Given the description of an element on the screen output the (x, y) to click on. 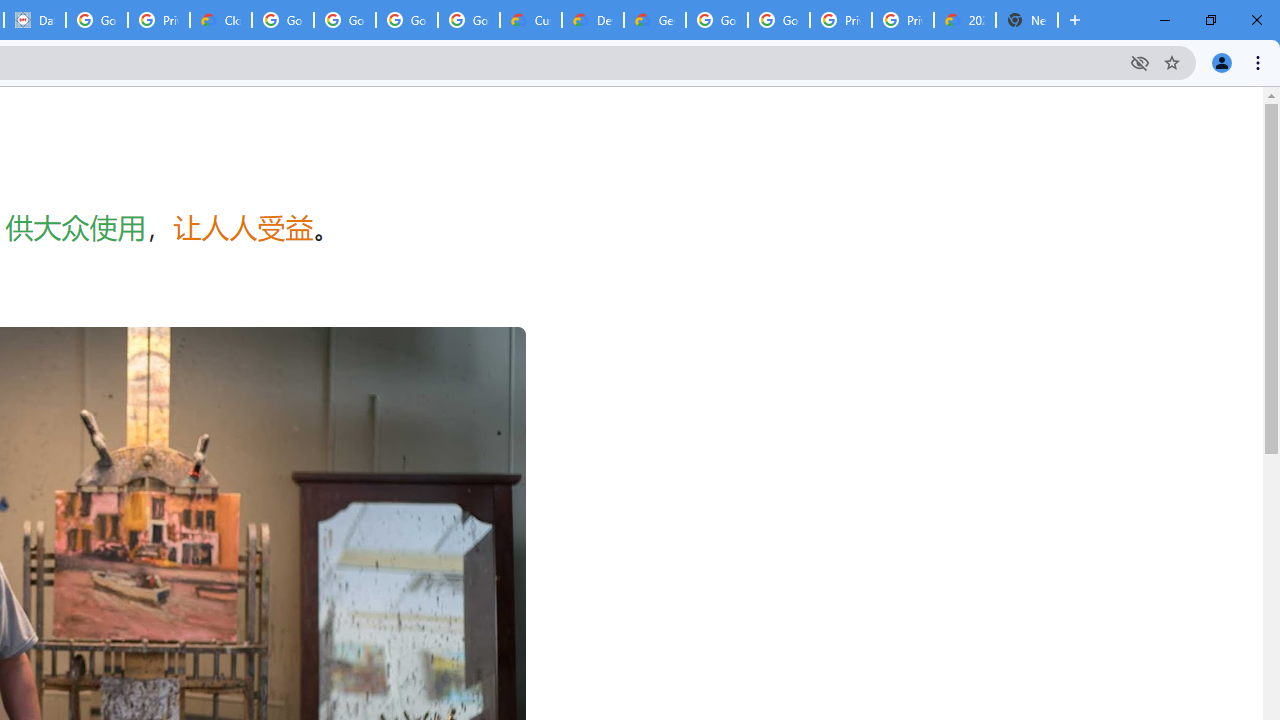
Customer Care | Google Cloud (530, 20)
Google Cloud Platform (778, 20)
Google Cloud Platform (716, 20)
Gemini for Business and Developers | Google Cloud (654, 20)
